Given the description of an element on the screen output the (x, y) to click on. 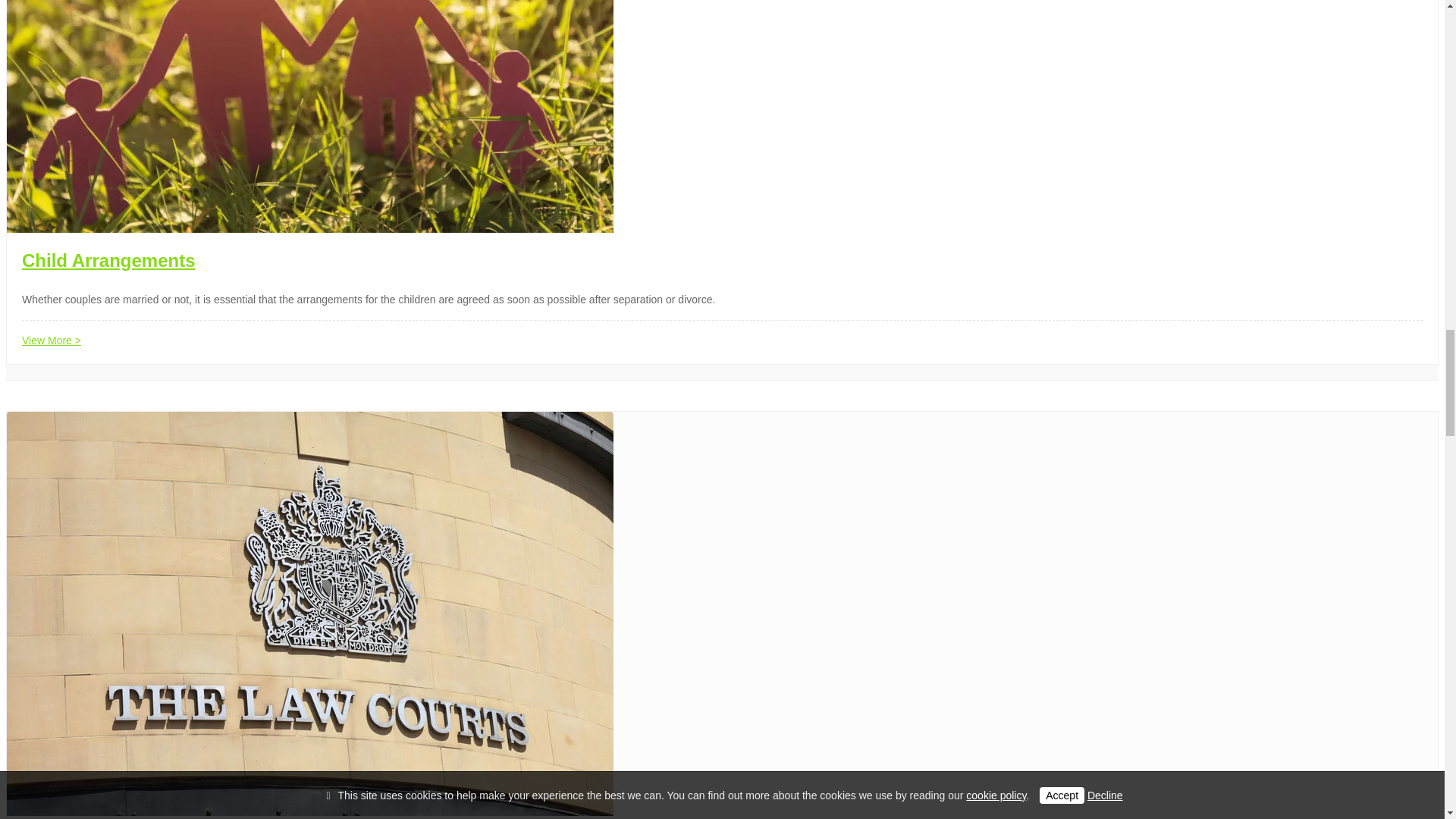
Child Arrangements (108, 260)
